Given the description of an element on the screen output the (x, y) to click on. 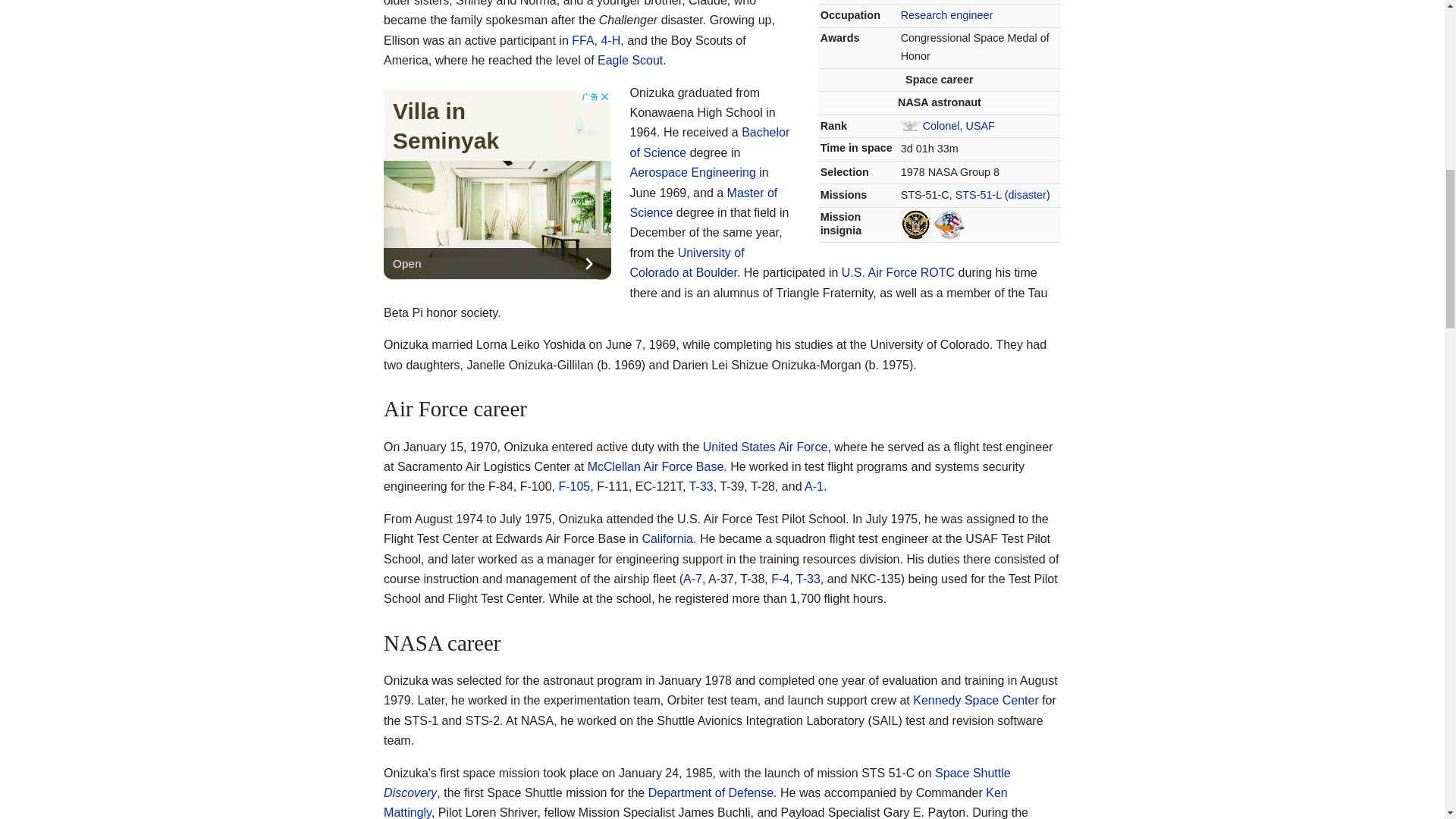
disaster (1027, 194)
Eagle Scout (629, 60)
STS-51-L (978, 194)
FFA (583, 40)
4-H (609, 40)
Colonel (941, 125)
Research engineer (946, 15)
Colonel (941, 125)
USAF (979, 125)
Space Shuttle Challenger disaster (1027, 194)
